Given the description of an element on the screen output the (x, y) to click on. 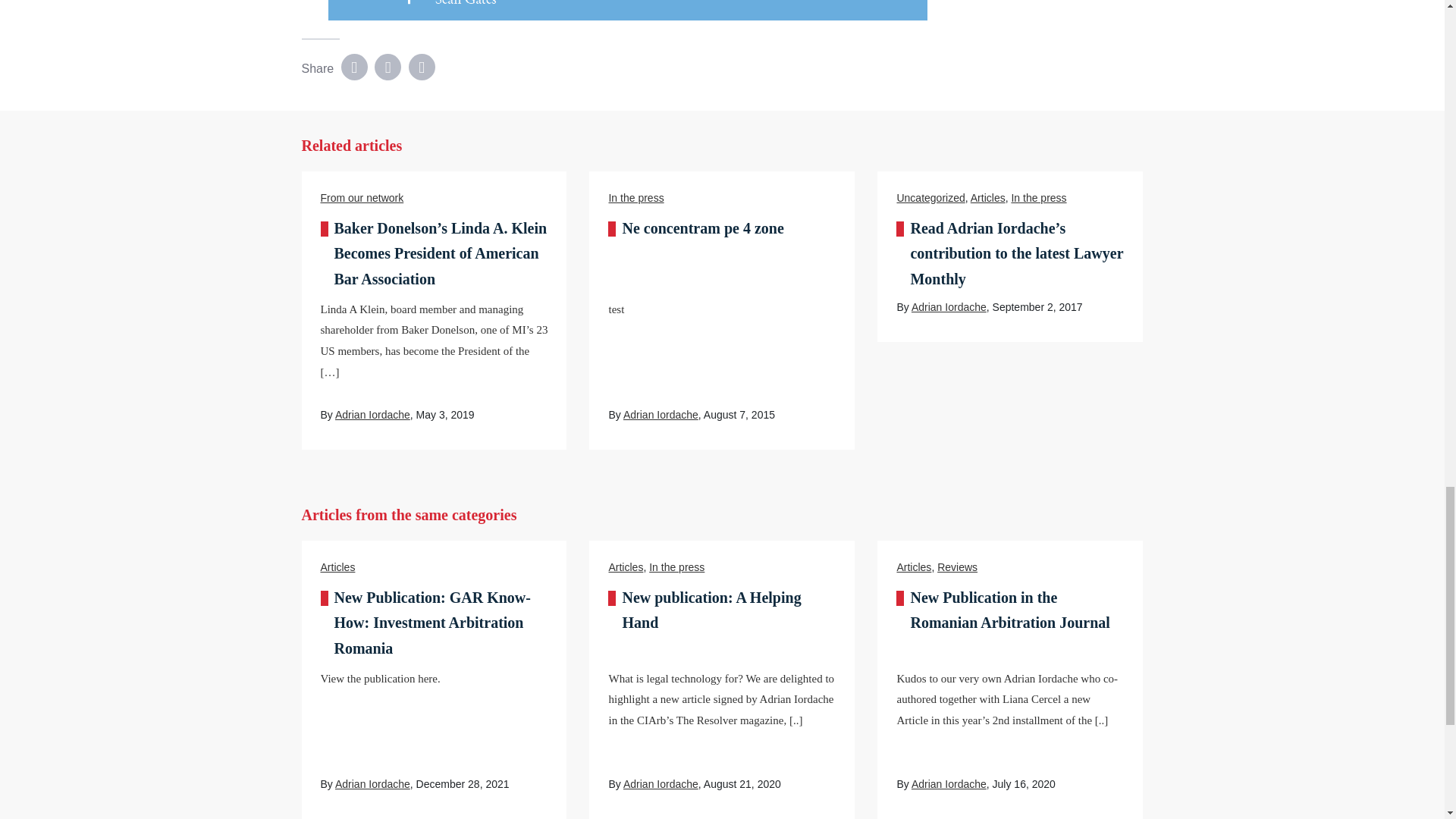
Posts by Adrian Iordache (372, 784)
Posts by Adrian Iordache (949, 784)
Posts by Adrian Iordache (660, 784)
From our network (361, 197)
Adrian Iordache (372, 414)
